Given the description of an element on the screen output the (x, y) to click on. 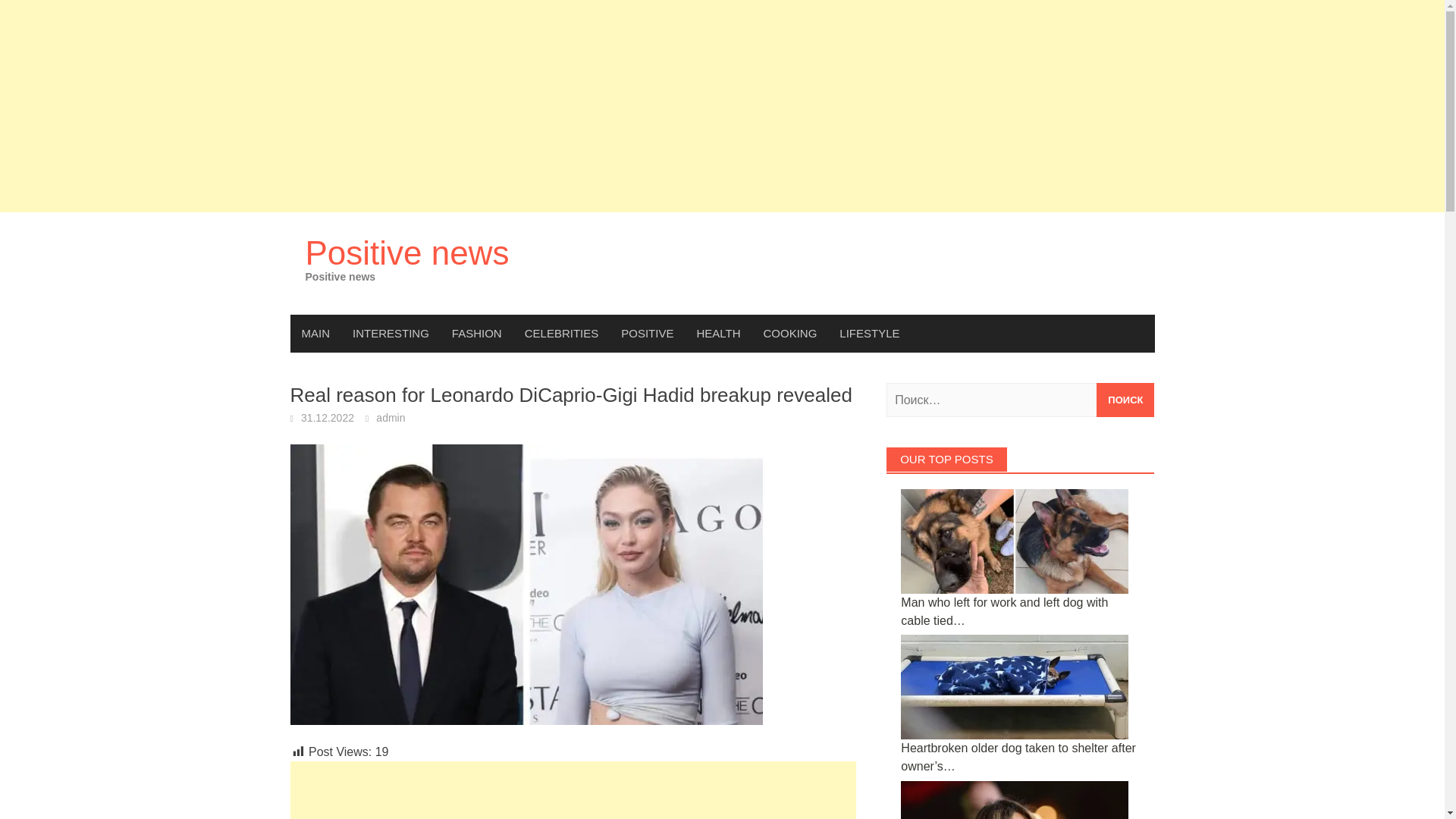
HEALTH (717, 333)
CELEBRITIES (561, 333)
COOKING (790, 333)
MAIN (314, 333)
Positive news (406, 252)
31.12.2022 (327, 417)
POSITIVE (647, 333)
FASHION (477, 333)
LIFESTYLE (869, 333)
